Given the description of an element on the screen output the (x, y) to click on. 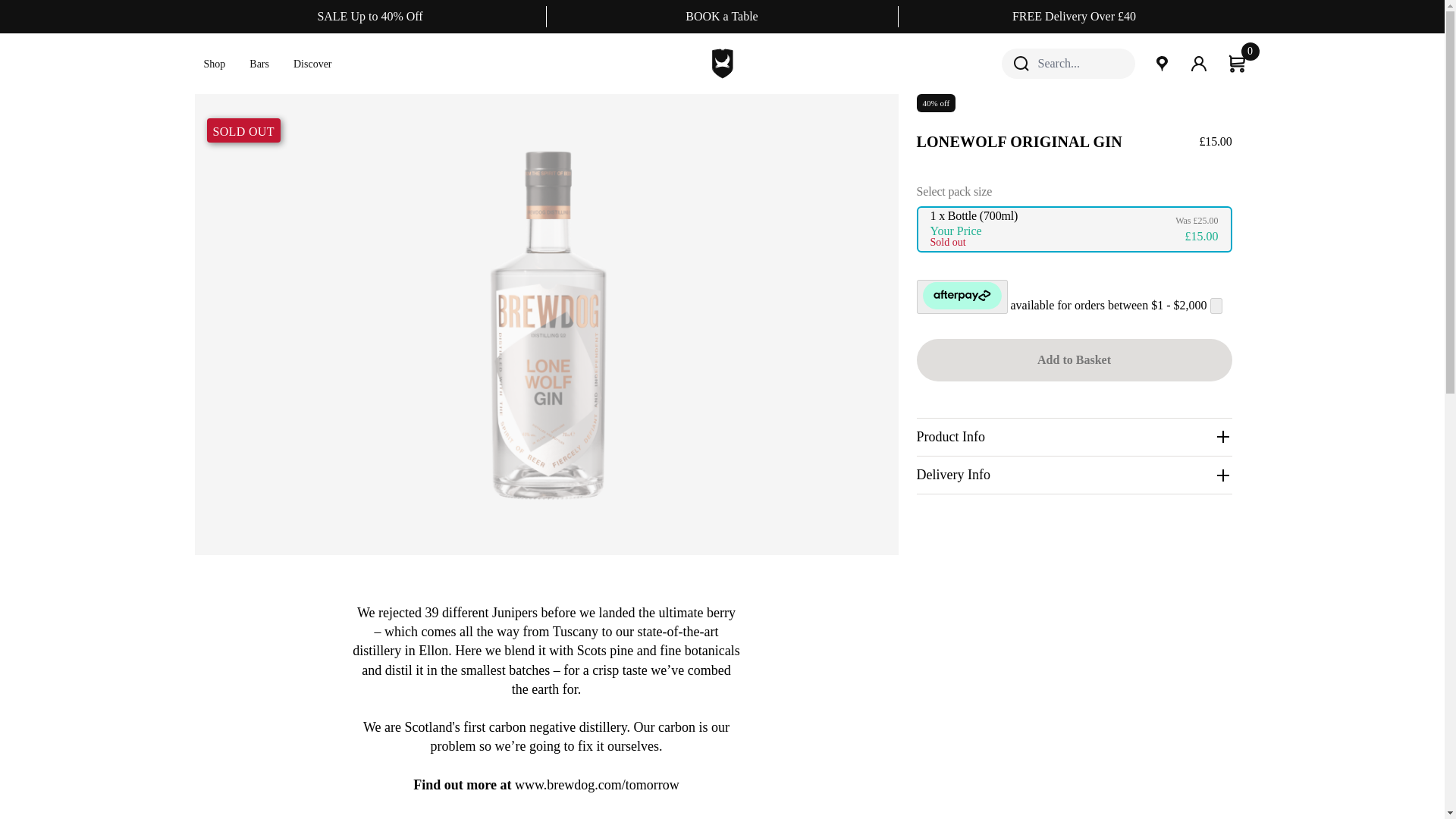
Add to Basket (1073, 360)
0 (1237, 63)
BOOK a Table (721, 16)
